Given the description of an element on the screen output the (x, y) to click on. 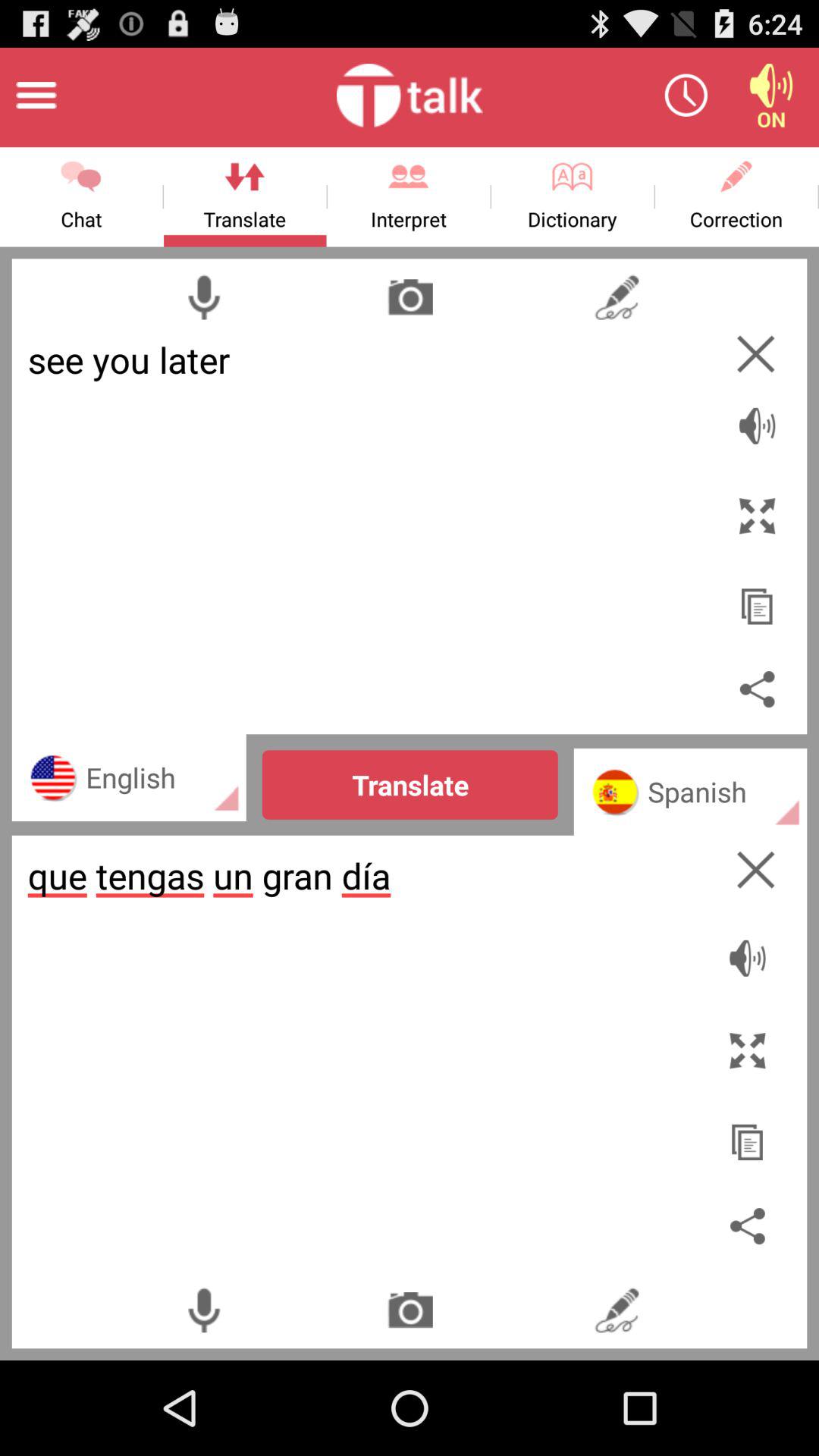
share this translation (757, 688)
